Given the description of an element on the screen output the (x, y) to click on. 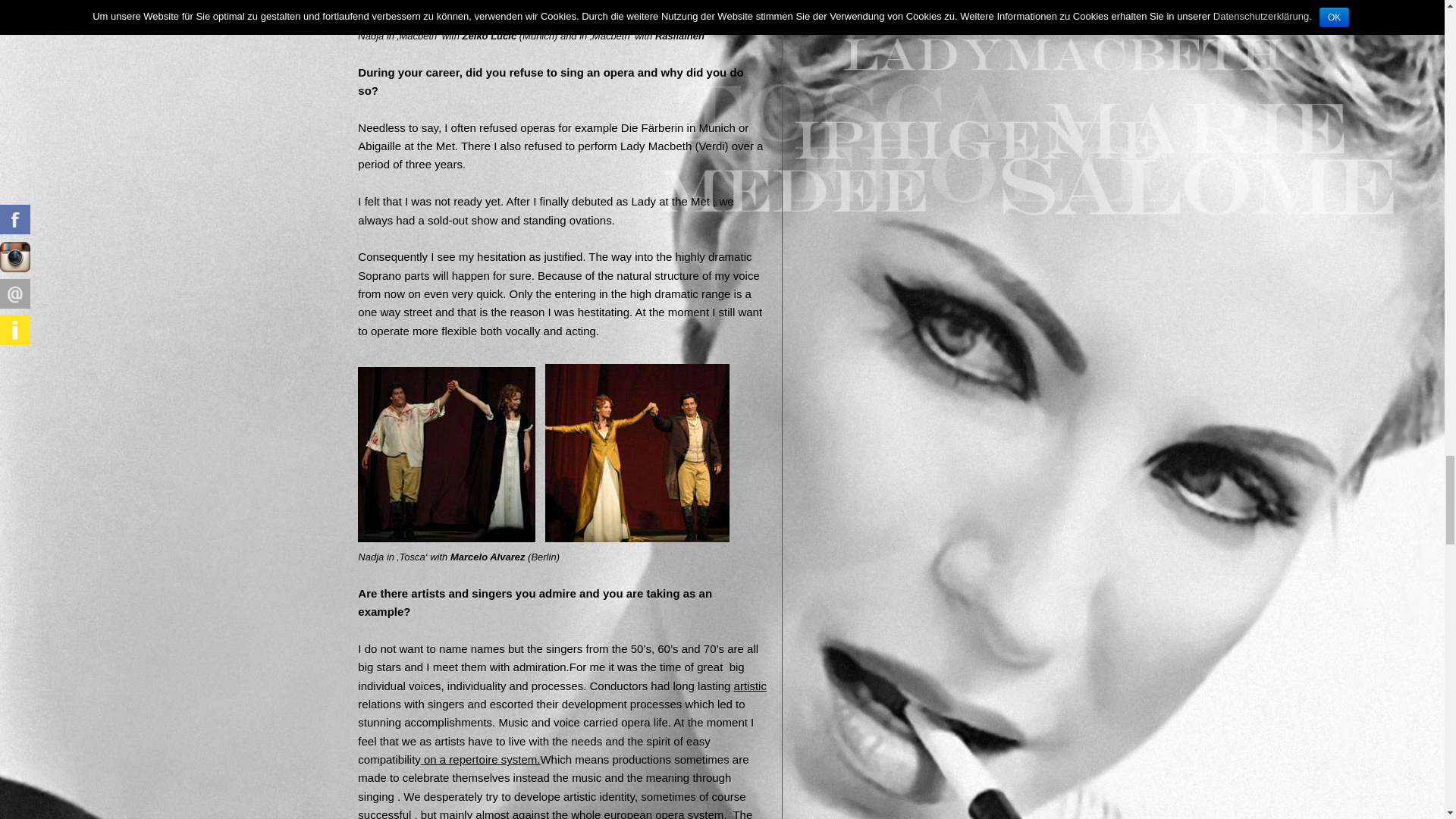
Tosca (636, 452)
Tosca (446, 454)
Macbeth (457, 10)
